Given the description of an element on the screen output the (x, y) to click on. 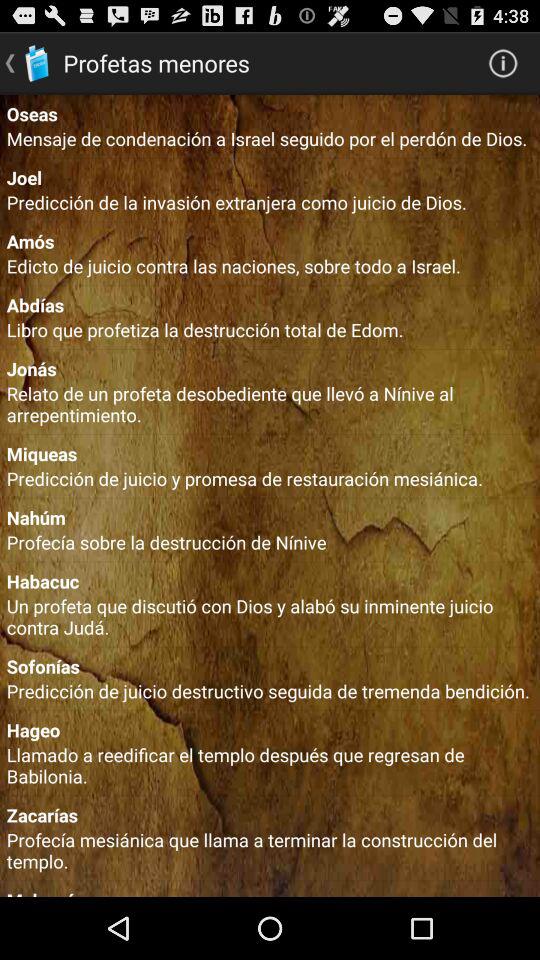
choose the app above relato de un item (269, 368)
